Given the description of an element on the screen output the (x, y) to click on. 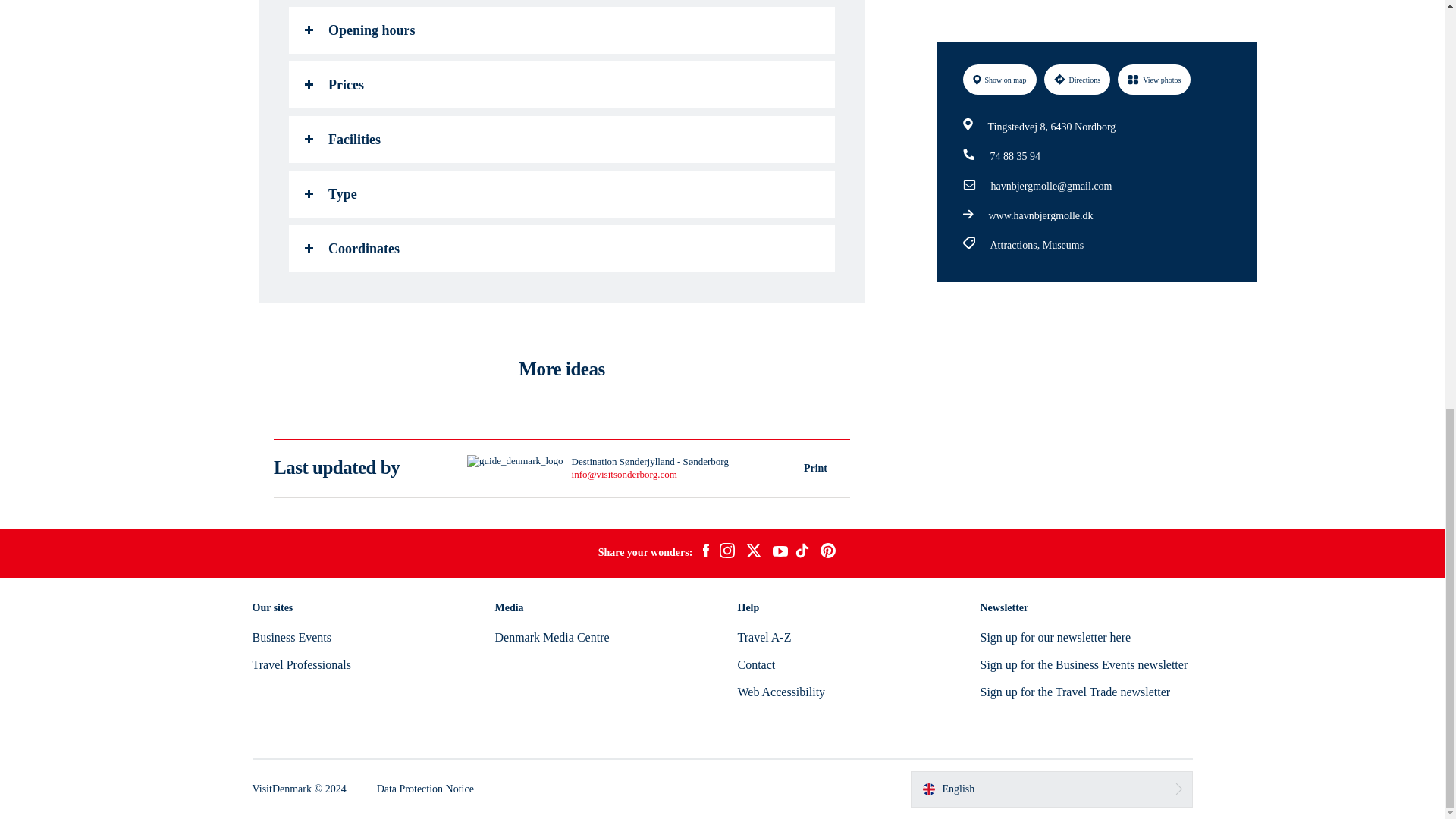
Travel Professionals (300, 664)
Sign up for the Travel Trade newsletter (1074, 691)
Opening hours (561, 30)
Denmark Media Centre (551, 636)
instagram (726, 552)
Facilities (561, 139)
tiktok (804, 552)
Travel A-Z (763, 636)
Prices (561, 84)
Sign up for our newsletter here (1055, 636)
